Given the description of an element on the screen output the (x, y) to click on. 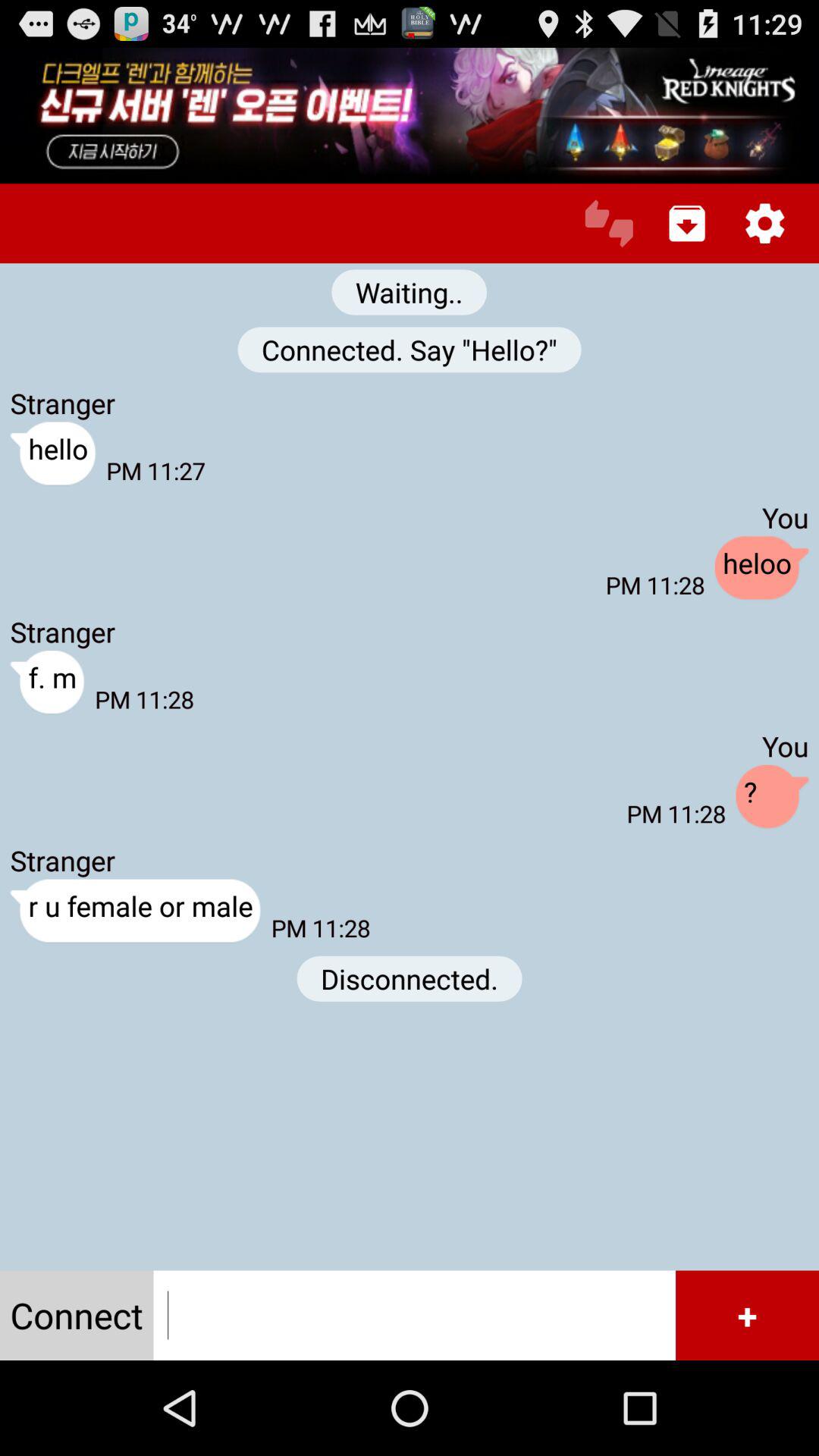
select the icon to the right of pm 11:28 item (771, 796)
